Given the description of an element on the screen output the (x, y) to click on. 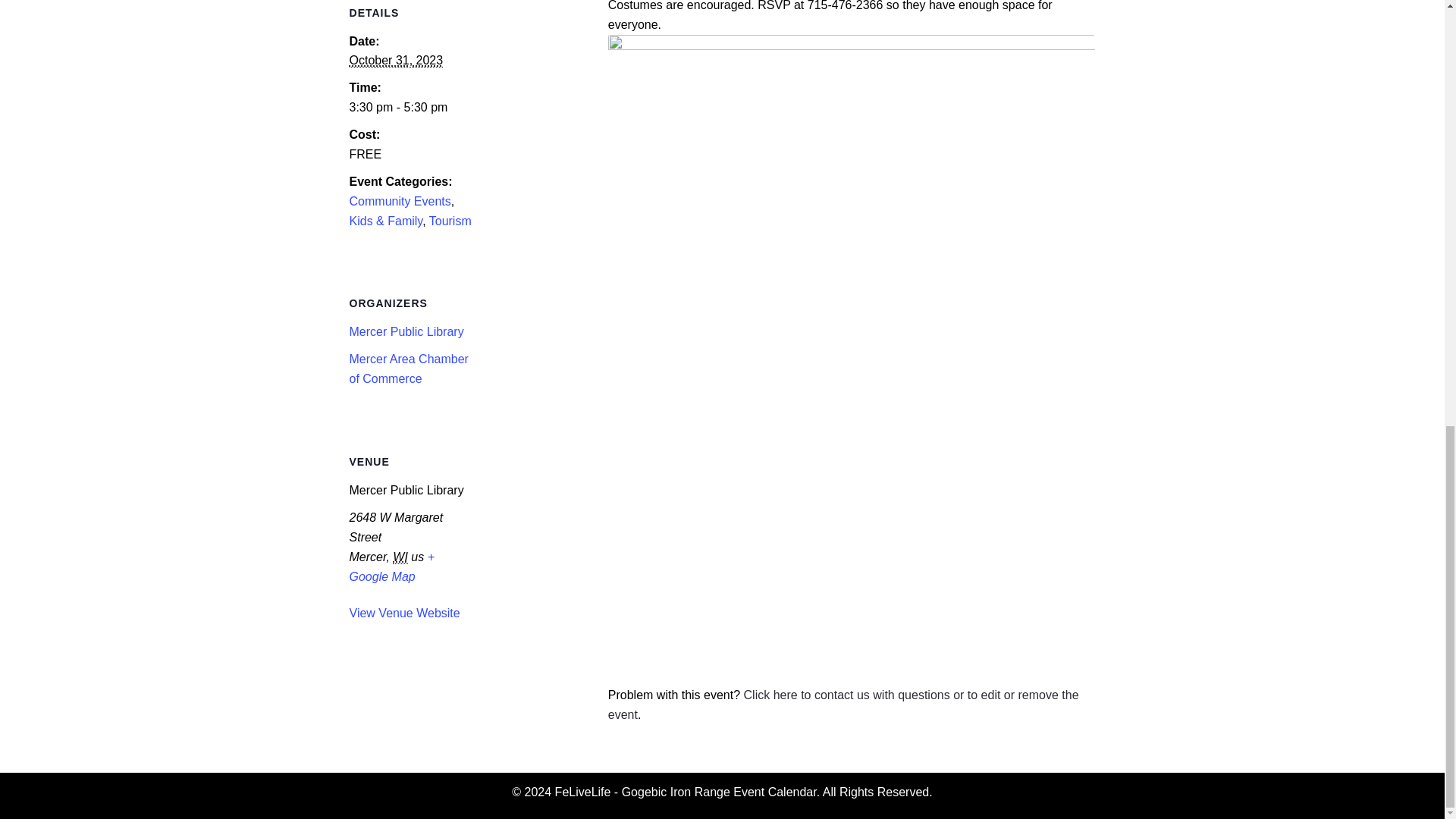
Mercer Area Chamber of Commerce (408, 368)
Wisconsin (400, 557)
2023-10-31 (413, 107)
Mercer Area Chamber of Commerce (408, 368)
Tourism (450, 220)
2023-10-31 (396, 60)
View Venue Website (404, 612)
Click to view a Google Map (392, 566)
Community Events (400, 201)
Mercer Public Library (406, 331)
Mercer Public Library (406, 331)
